Given the description of an element on the screen output the (x, y) to click on. 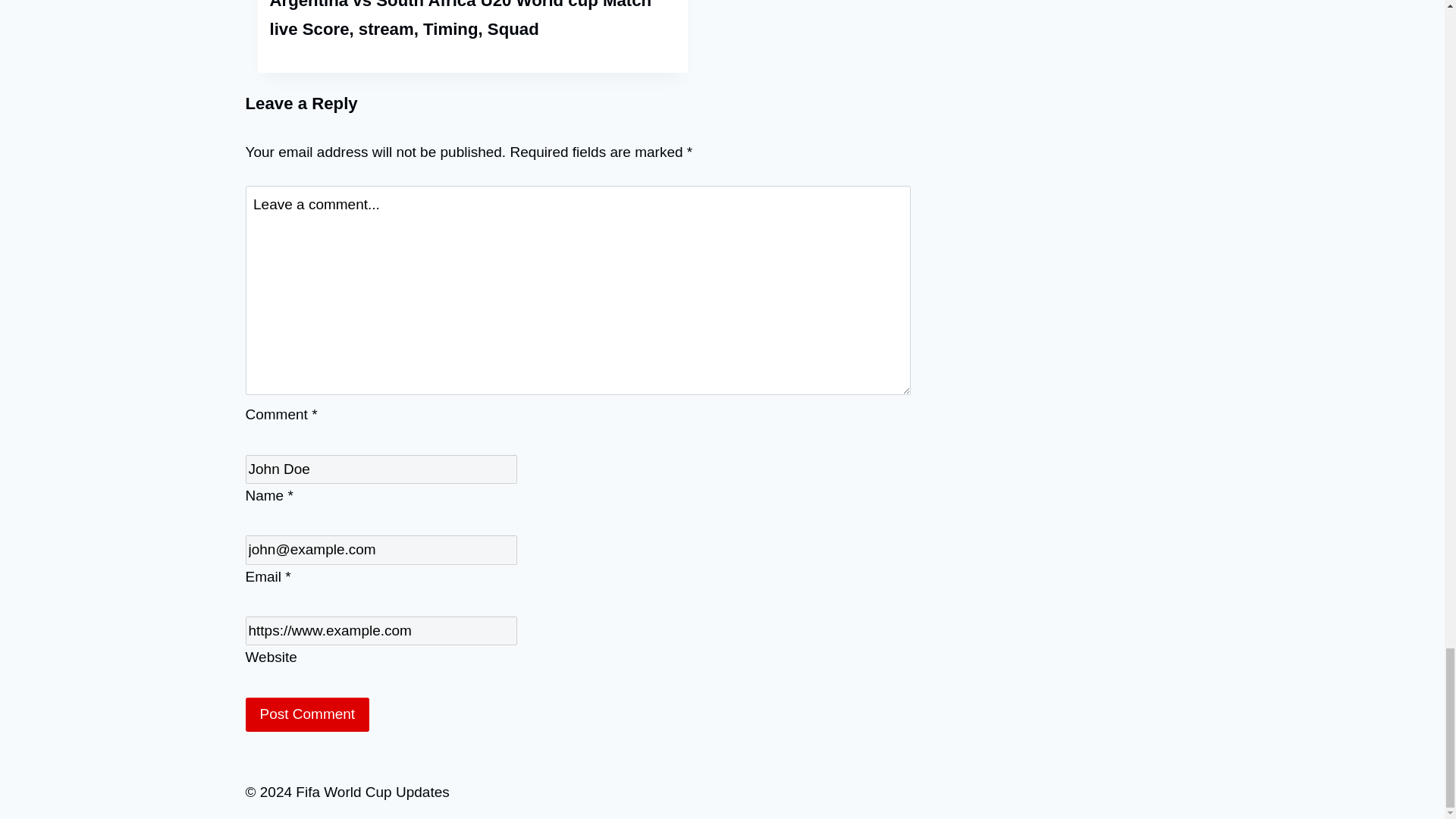
Post Comment (307, 714)
